Given the description of an element on the screen output the (x, y) to click on. 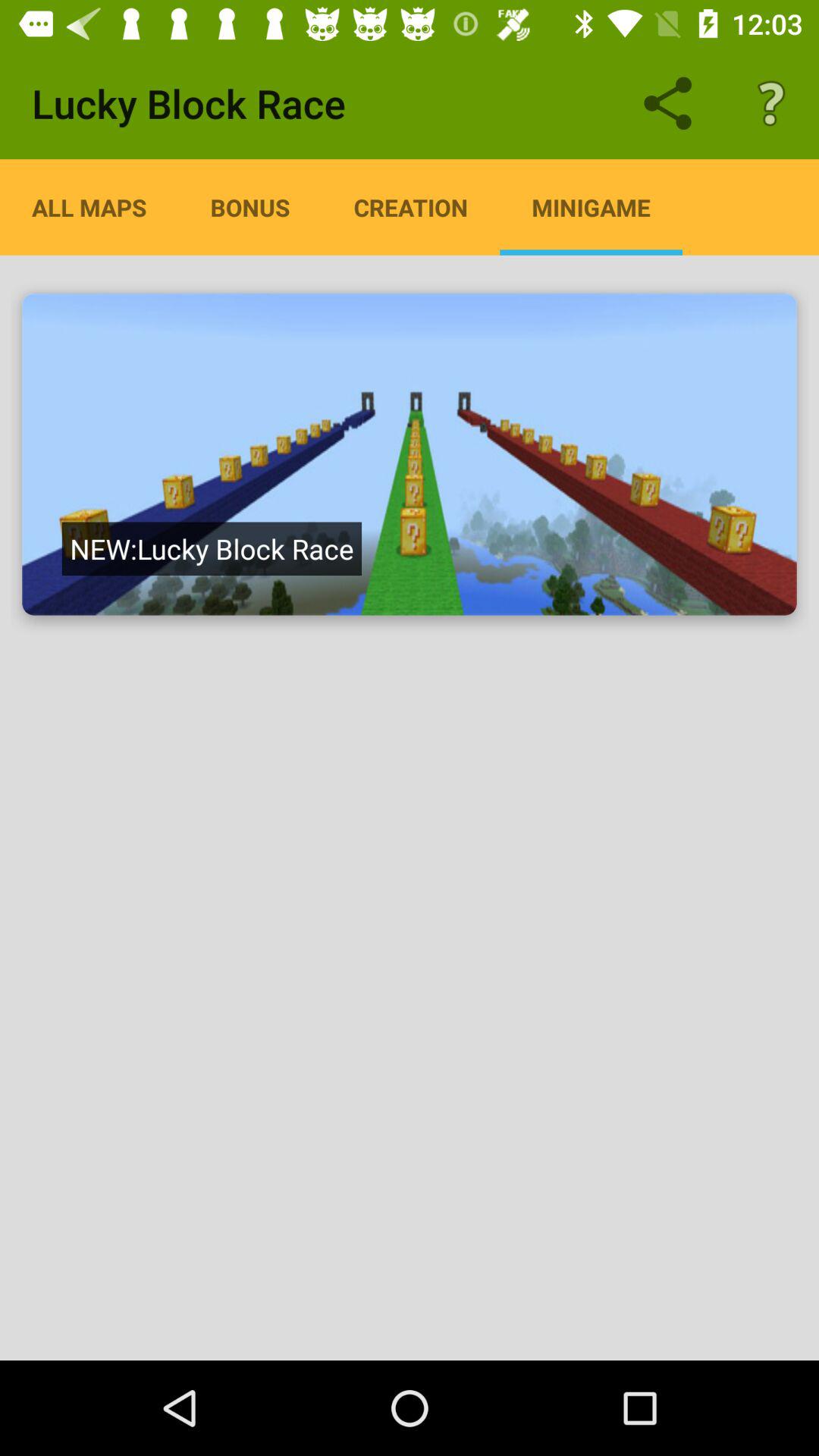
access the minigame (409, 454)
